Given the description of an element on the screen output the (x, y) to click on. 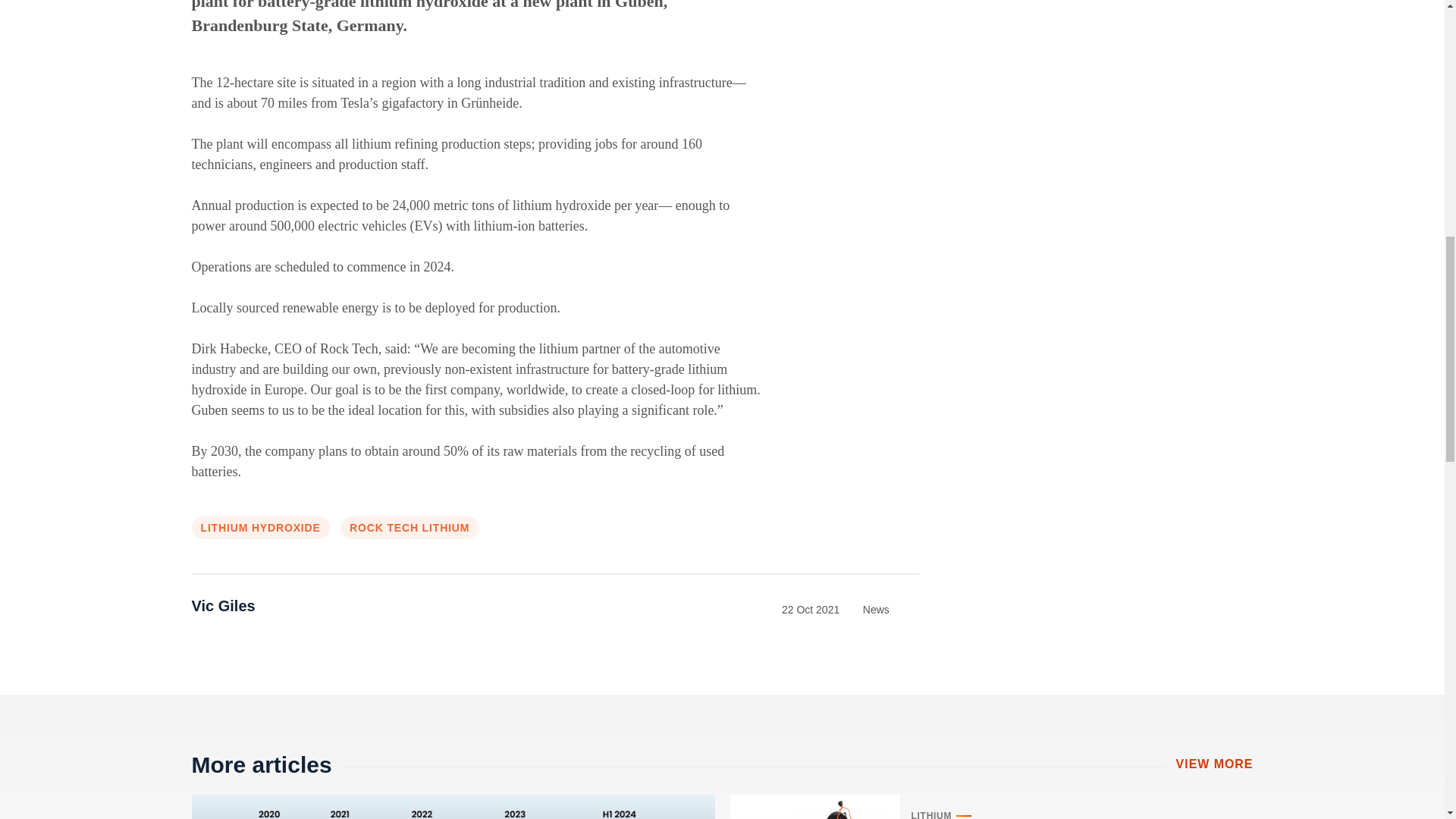
ROCK TECH LITHIUM (409, 527)
LITHIUM HYDROXIDE (259, 527)
